Given the description of an element on the screen output the (x, y) to click on. 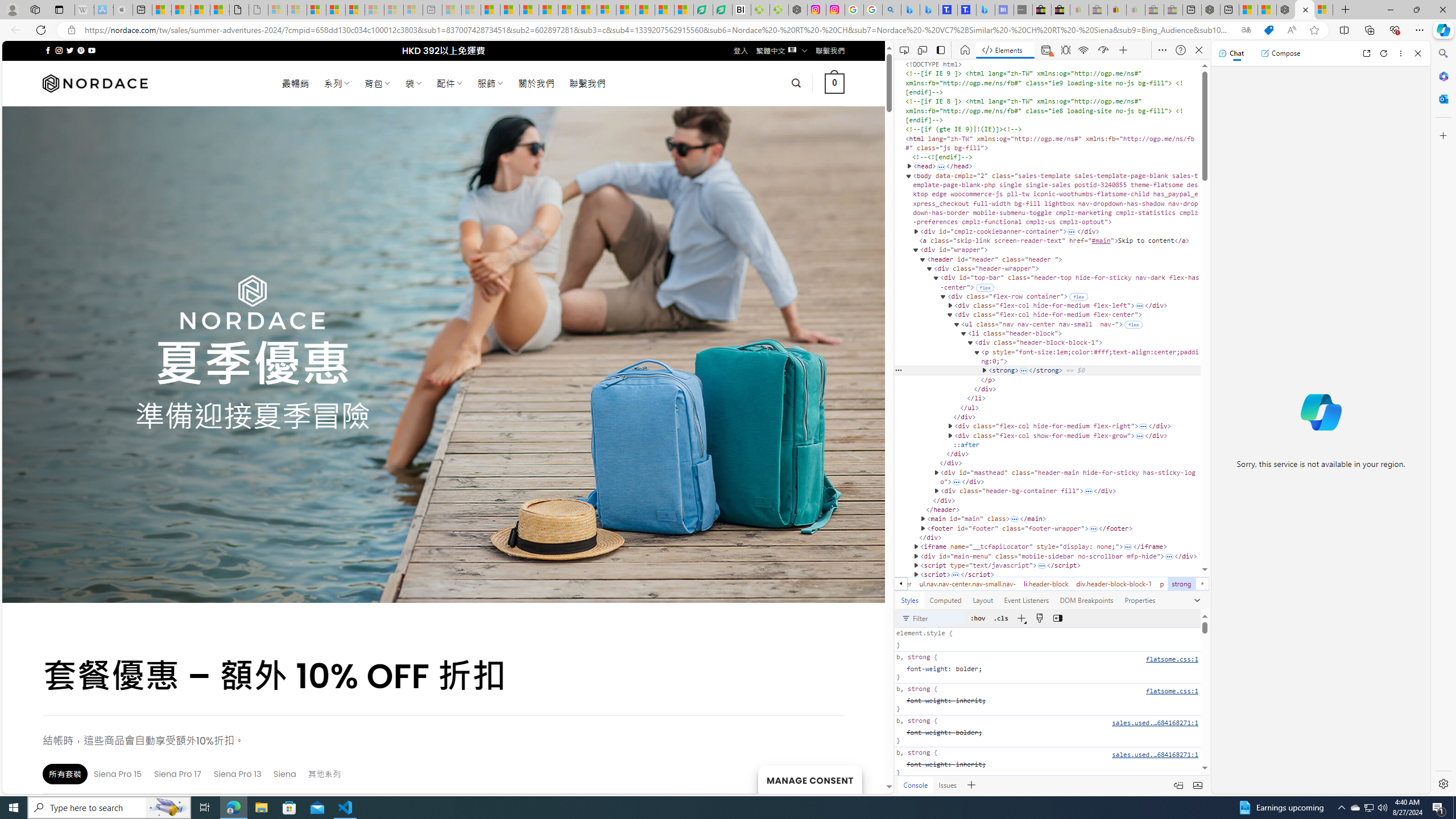
Open link in new tab (1366, 53)
Personal Profile (12, 9)
Yard, Garden & Outdoor Living - Sleeping (1173, 9)
DOM Breakpoints (1086, 599)
Siena Pro 17 (178, 773)
ul.nav.nav-center.nav-small.nav- (967, 583)
App bar (728, 29)
Address and search bar (658, 29)
Enable flex mode (1133, 324)
Refresh (1383, 53)
li.header-block (1045, 583)
